Given the description of an element on the screen output the (x, y) to click on. 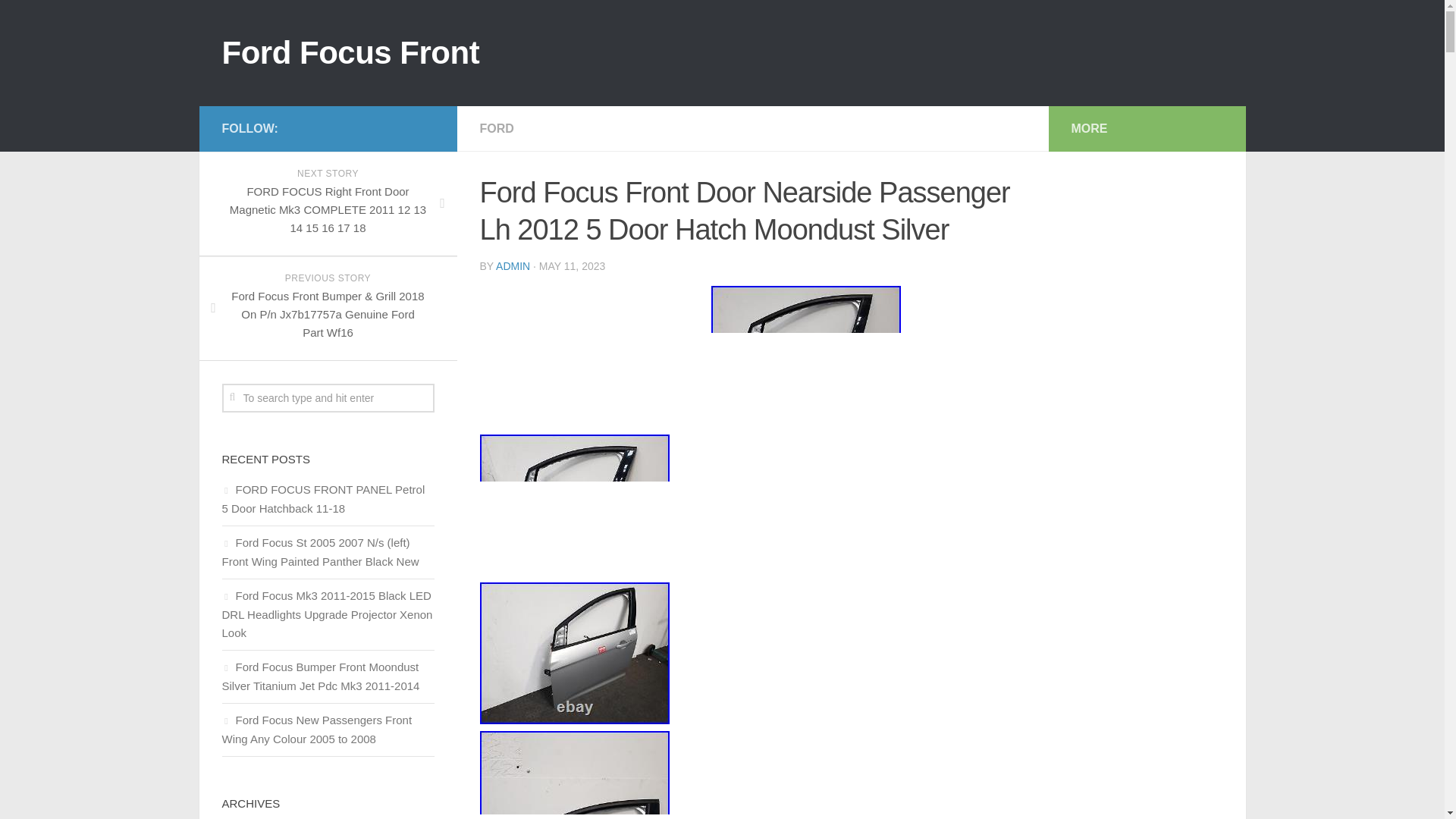
ADMIN (512, 265)
FORD (496, 128)
Ford Focus New Passengers Front Wing Any Colour 2005 to 2008 (316, 729)
To search type and hit enter (327, 398)
FORD FOCUS FRONT PANEL Petrol 5 Door Hatchback 11-18 (323, 499)
